Given the description of an element on the screen output the (x, y) to click on. 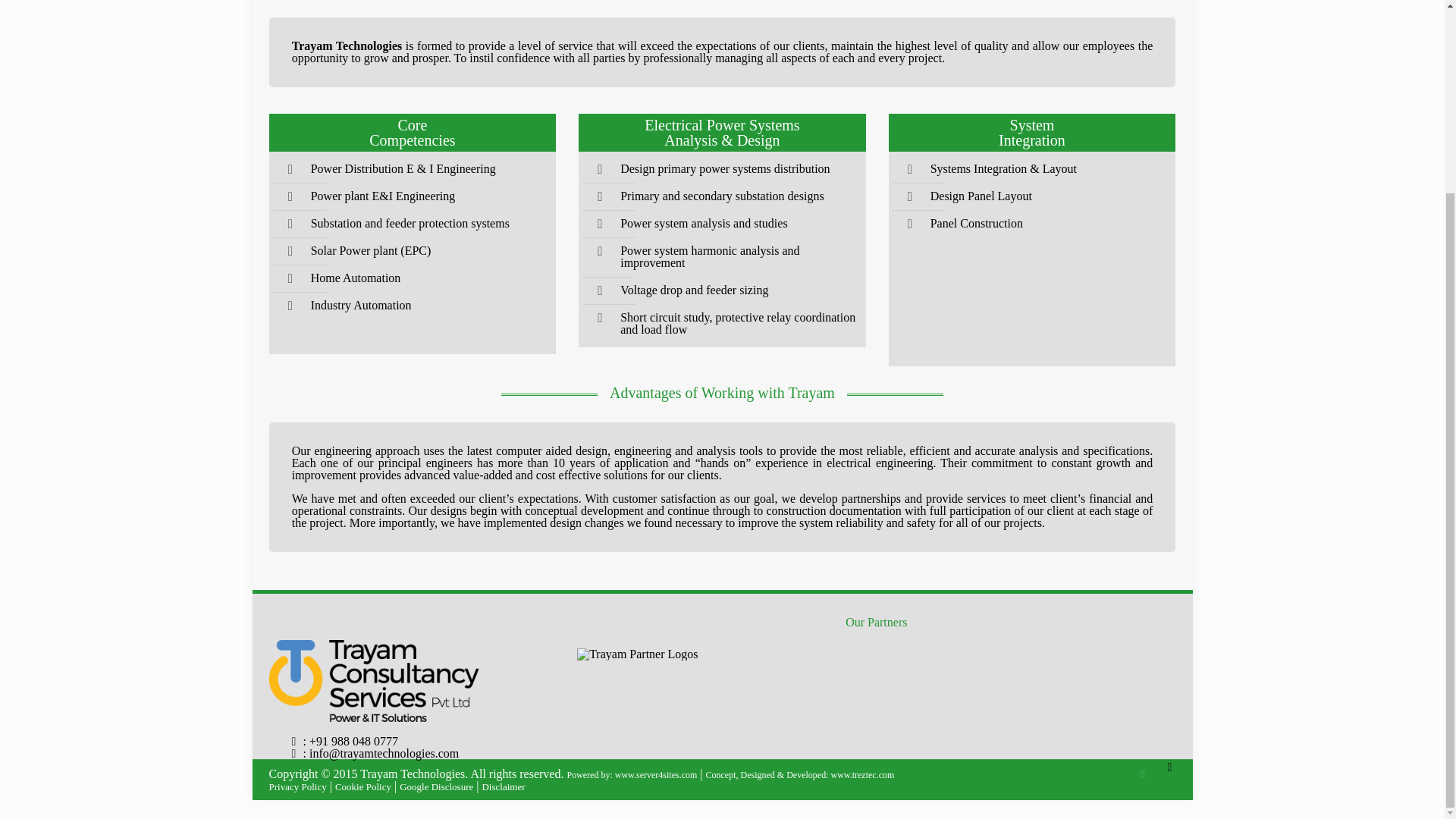
www.server4sites.com (655, 774)
Google Disclosure (435, 785)
Cookie Policy (362, 785)
www.treztec.com (861, 774)
Trayam Technologies. (414, 773)
Treztec Consulting Services LLP (861, 774)
Facebook (1142, 774)
Disclaimer (502, 785)
Privacy Policy (296, 785)
